Given the description of an element on the screen output the (x, y) to click on. 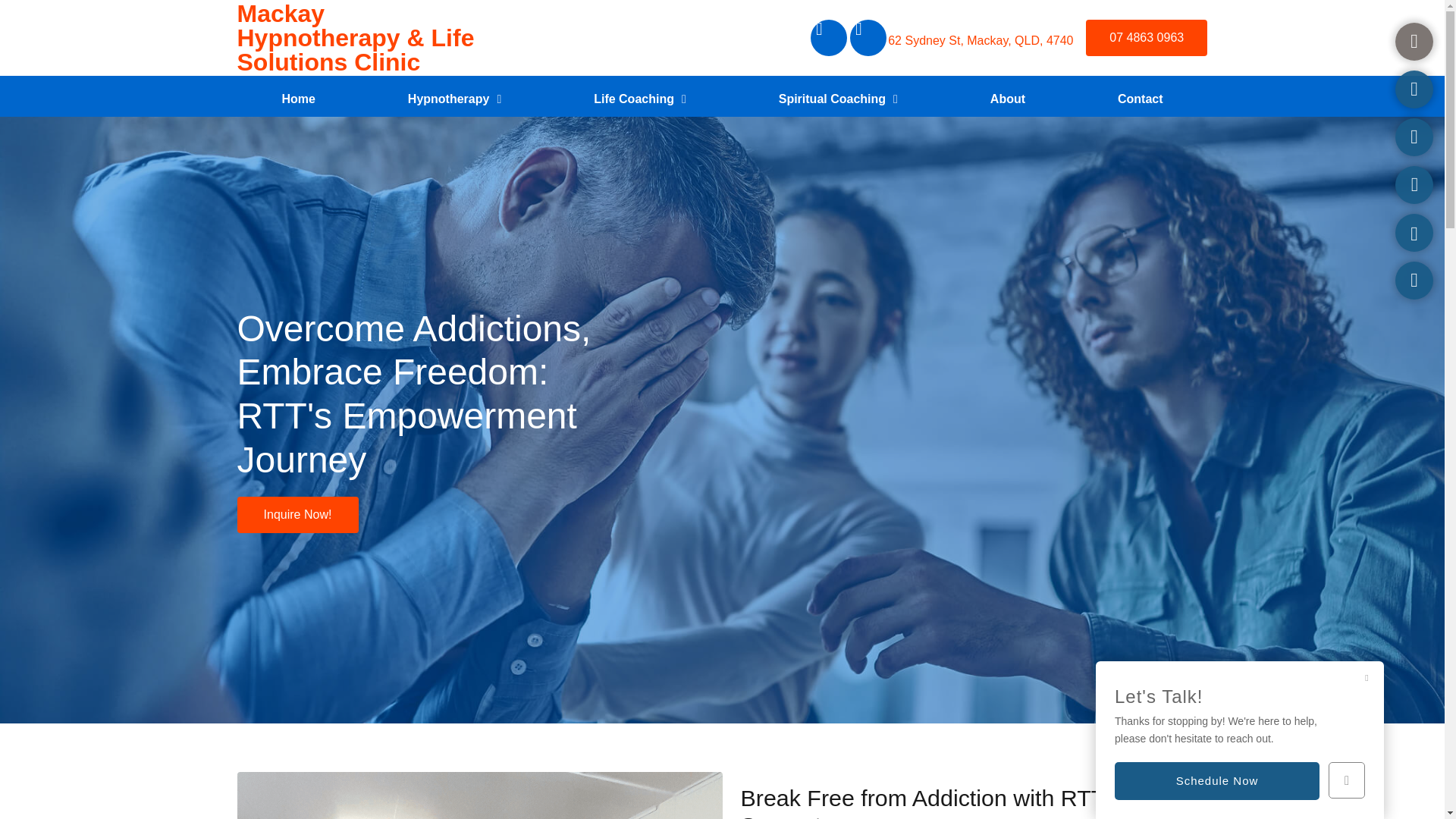
Contact (1140, 99)
About (1007, 99)
Spiritual Coaching (837, 99)
Home (297, 99)
62 Sydney St, Mackay, QLD, 4740 (980, 40)
Hypnotherapy (454, 99)
07 4863 0963 (1146, 37)
Life Coaching (639, 99)
